Given the description of an element on the screen output the (x, y) to click on. 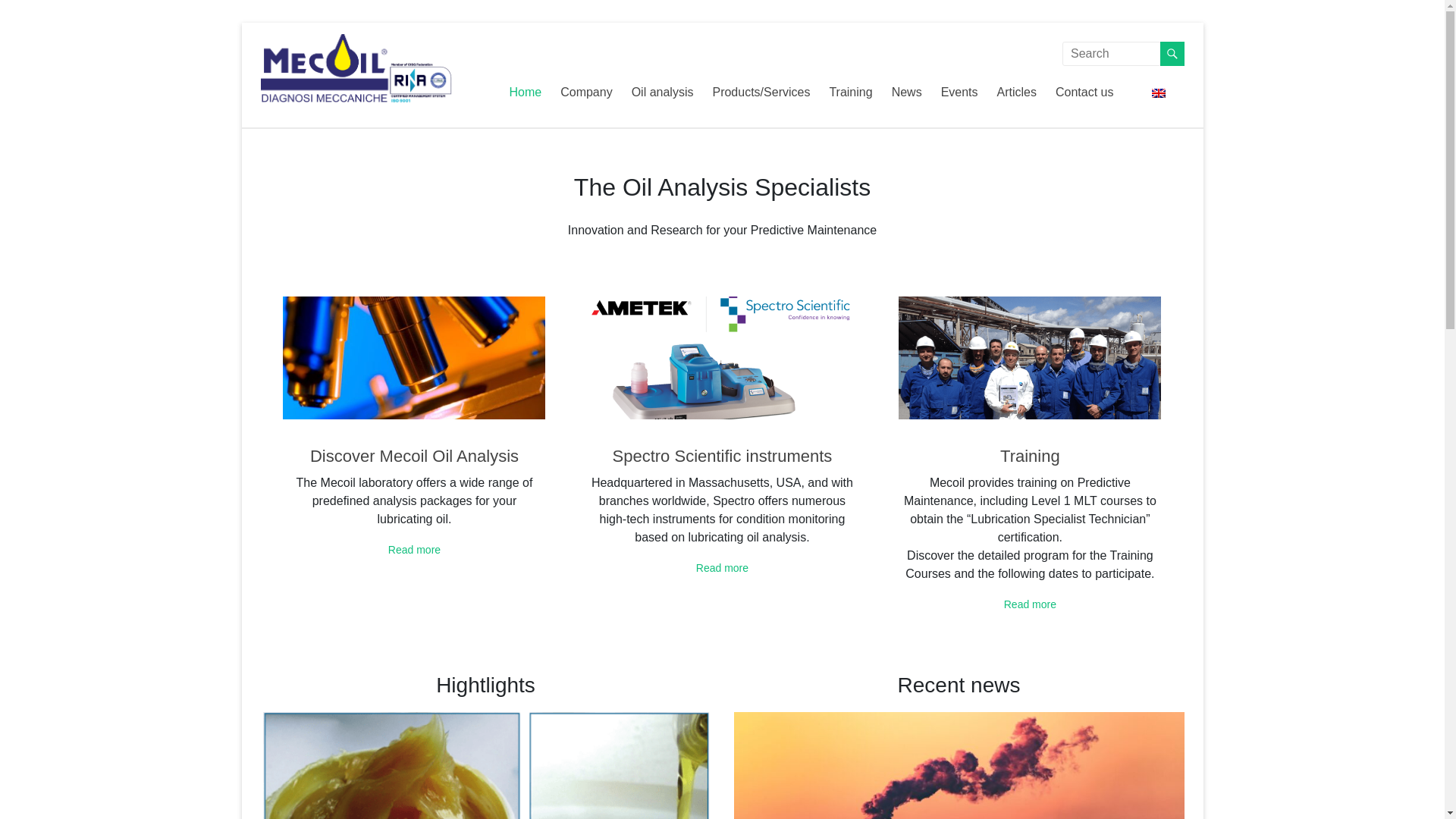
Discover Mecoil Oil Analysis (414, 549)
Read more (414, 549)
Discover Mecoil Oil Analysis (414, 456)
Spectro Scientific instruments (722, 357)
Read more (1030, 604)
English (1158, 92)
Discover Mecoil Oil Analysis (414, 456)
Contact us (1084, 92)
Events (959, 92)
Training (1029, 456)
Cruel nature or ungrateful children? (959, 765)
Read more (721, 567)
Oil analysis (662, 92)
Discover Mecoil Oil Analysis (413, 357)
